Given the description of an element on the screen output the (x, y) to click on. 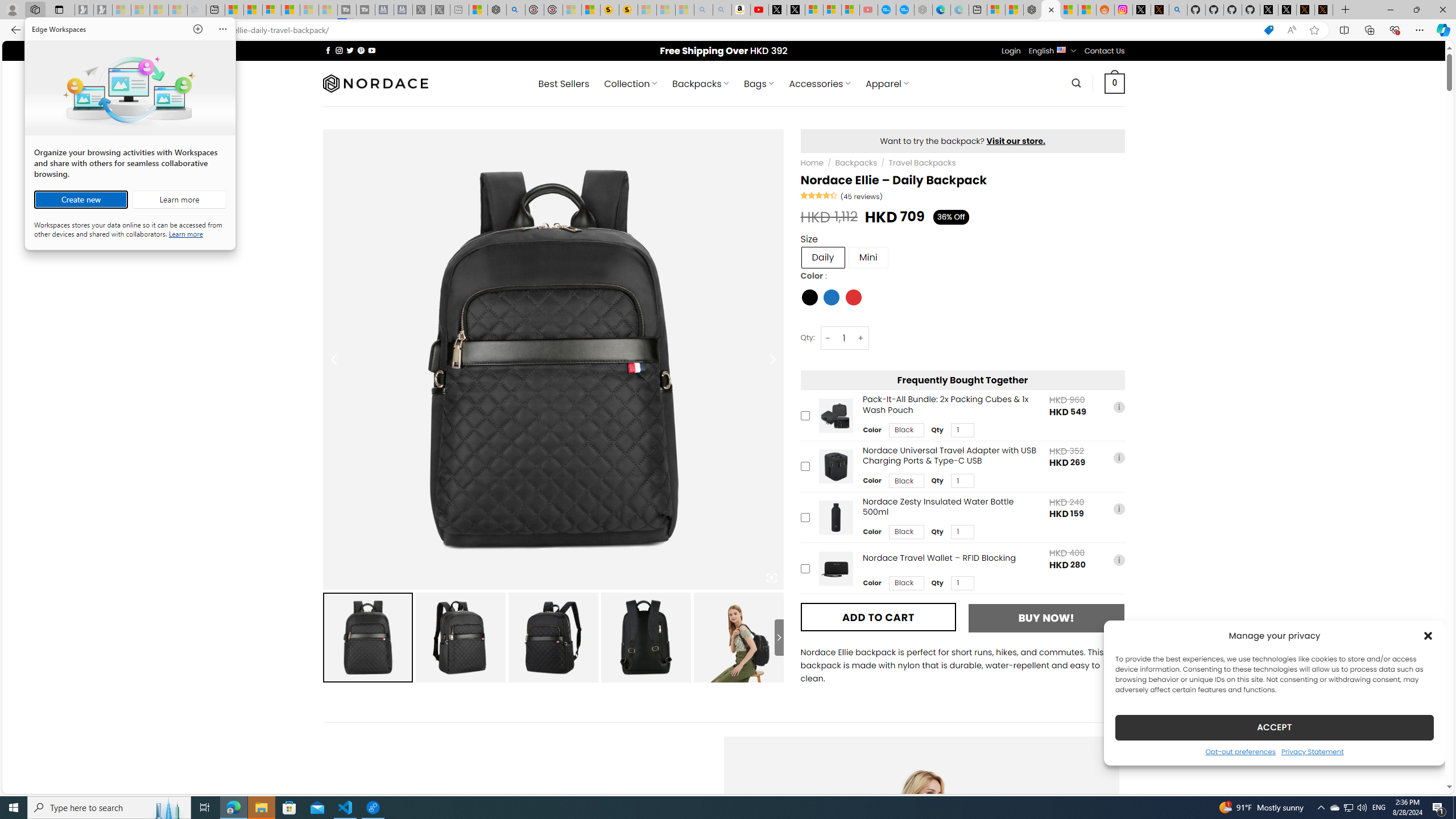
Rated 4.33 out of 5 (819, 194)
Visit our store. (1015, 140)
Opinion: Op-Ed and Commentary - USA TODAY (887, 9)
File Explorer - 1 running window (261, 807)
Follow on Pinterest (360, 49)
This site has coupons! Shopping in Microsoft Edge (1268, 29)
